Given the description of an element on the screen output the (x, y) to click on. 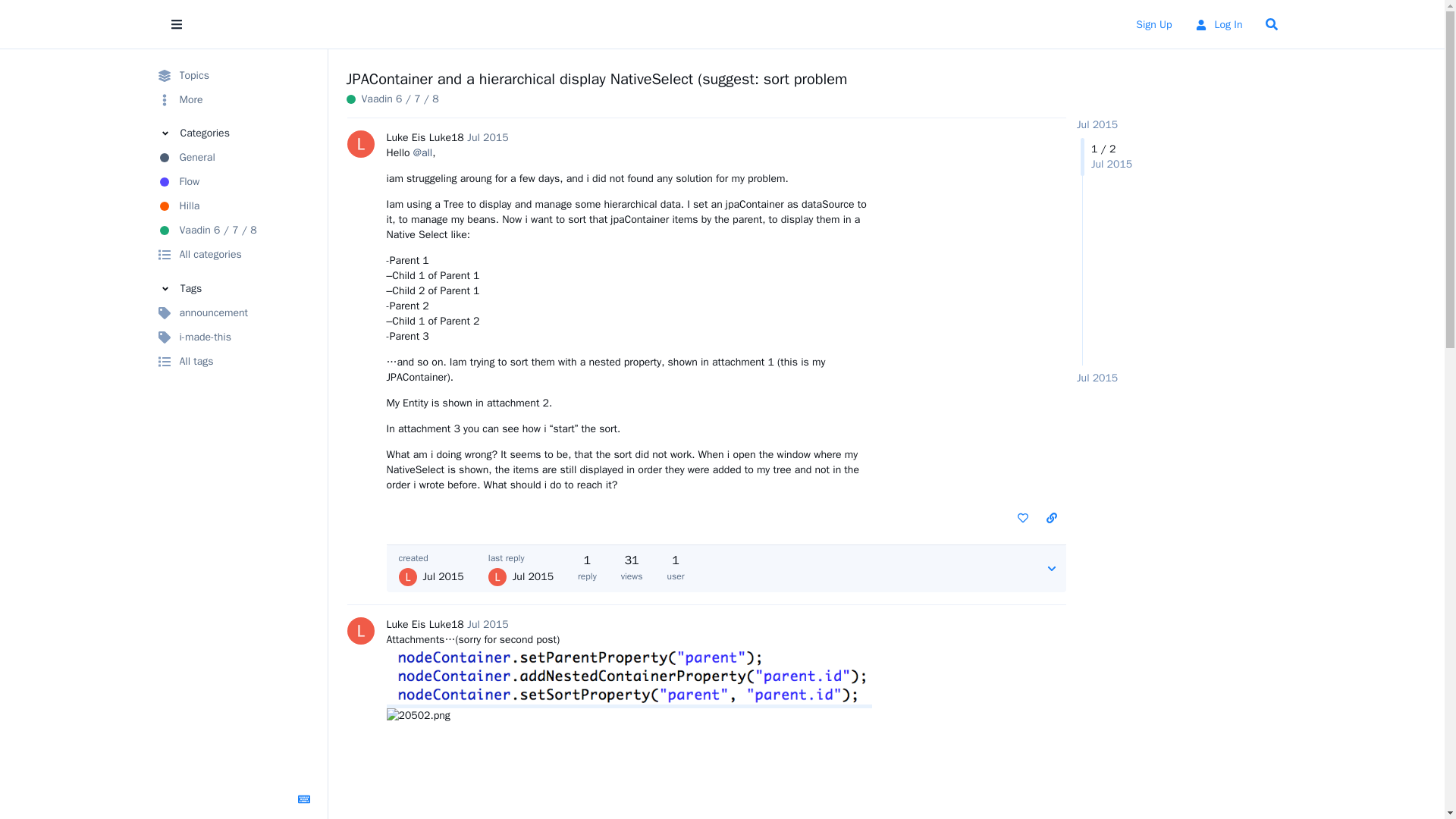
Luke18 (446, 624)
Sidebar (175, 23)
Tags (235, 288)
Vaadin Flow is our full-stack framework for Java developers. (235, 181)
All tags (235, 360)
Toggle section (235, 288)
Jul 2015 (487, 137)
Topics (235, 75)
Flow (235, 181)
Luke18 (446, 137)
GWT-based Vaadin versions. (392, 99)
announcement (235, 312)
Jul 2015 (1097, 378)
Jul 2015 (1097, 124)
More (235, 99)
